Given the description of an element on the screen output the (x, y) to click on. 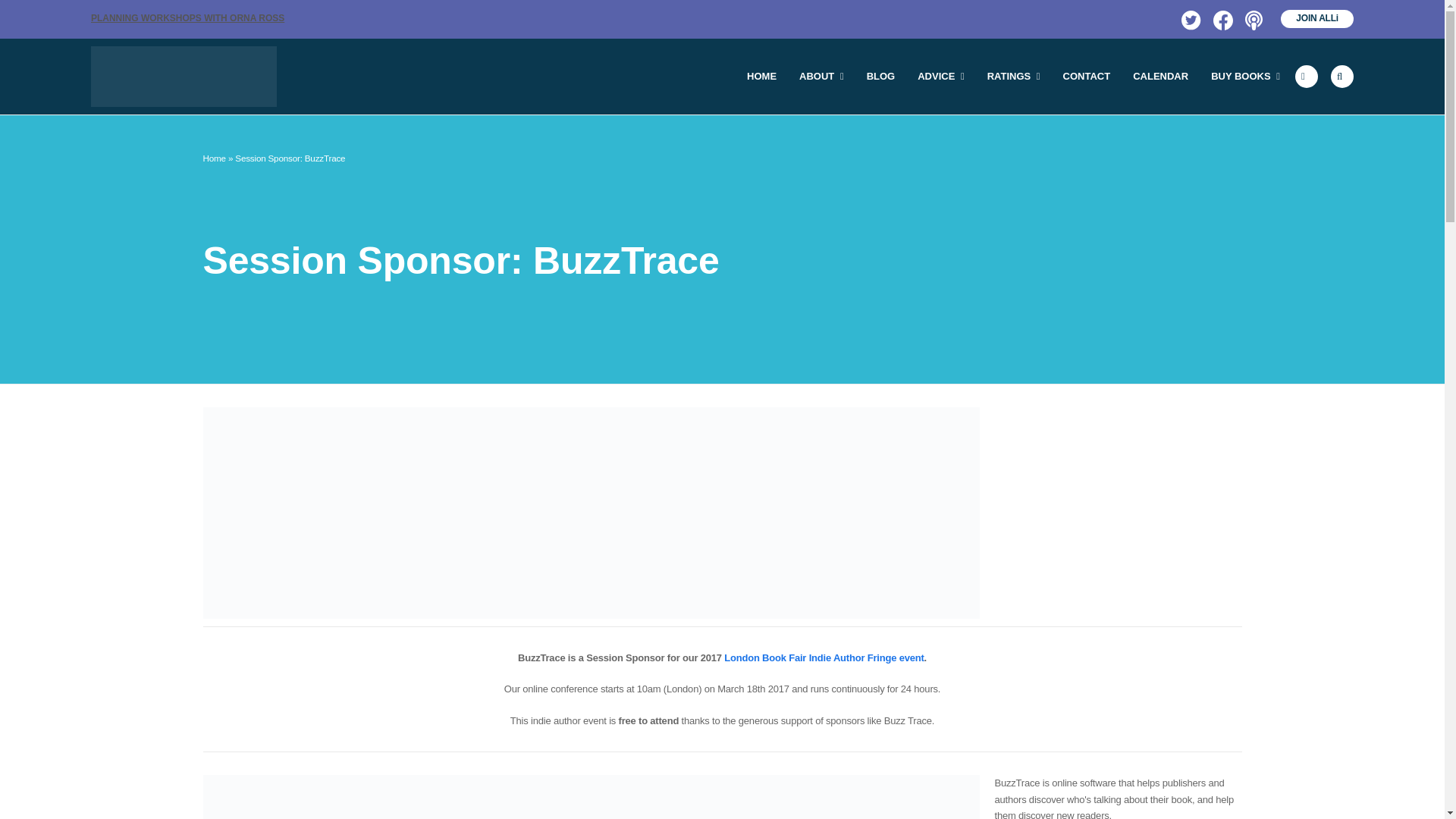
CONTACT (1086, 76)
Facebook (1221, 18)
ADVICE (940, 76)
RATINGS (1013, 76)
CALENDAR (1160, 76)
Twitter (1189, 18)
BLOG (881, 76)
Join ALLi (1317, 18)
BUY BOOKS (1245, 76)
PLANNING WORKSHOPS WITH ORNA ROSS (186, 18)
